Given the description of an element on the screen output the (x, y) to click on. 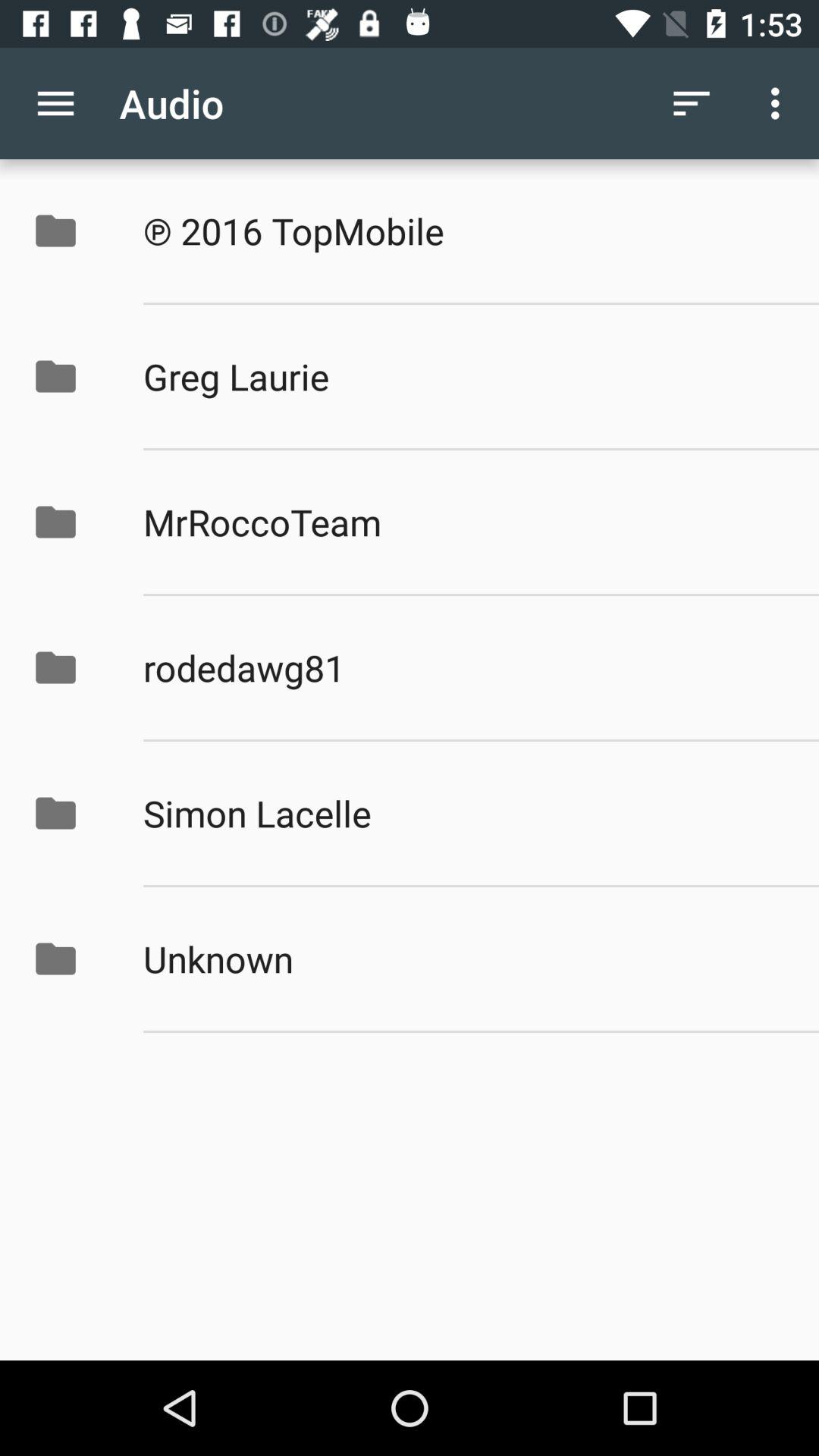
jump to the greg laurie (465, 376)
